Given the description of an element on the screen output the (x, y) to click on. 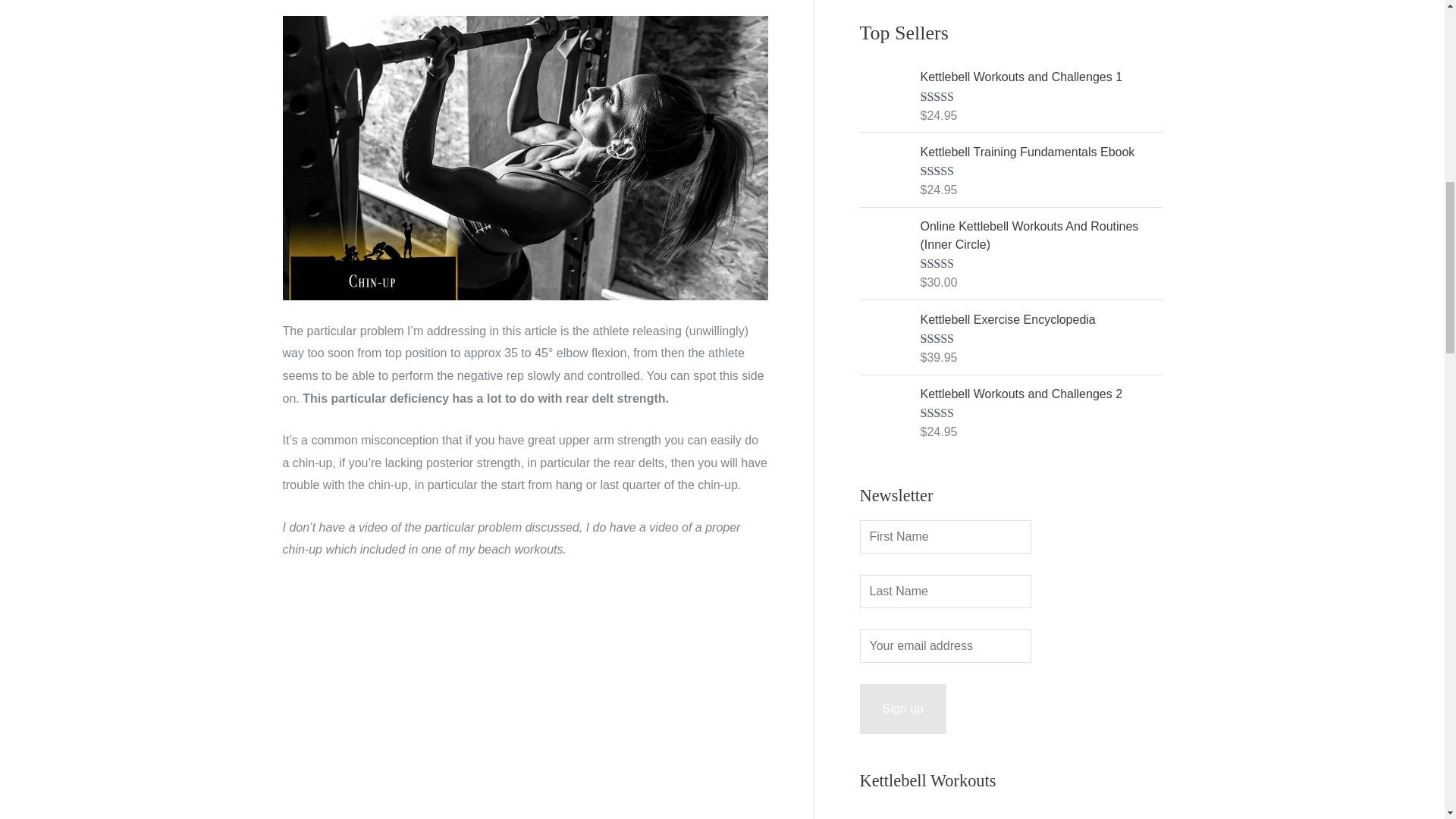
Sign up (903, 708)
